Given the description of an element on the screen output the (x, y) to click on. 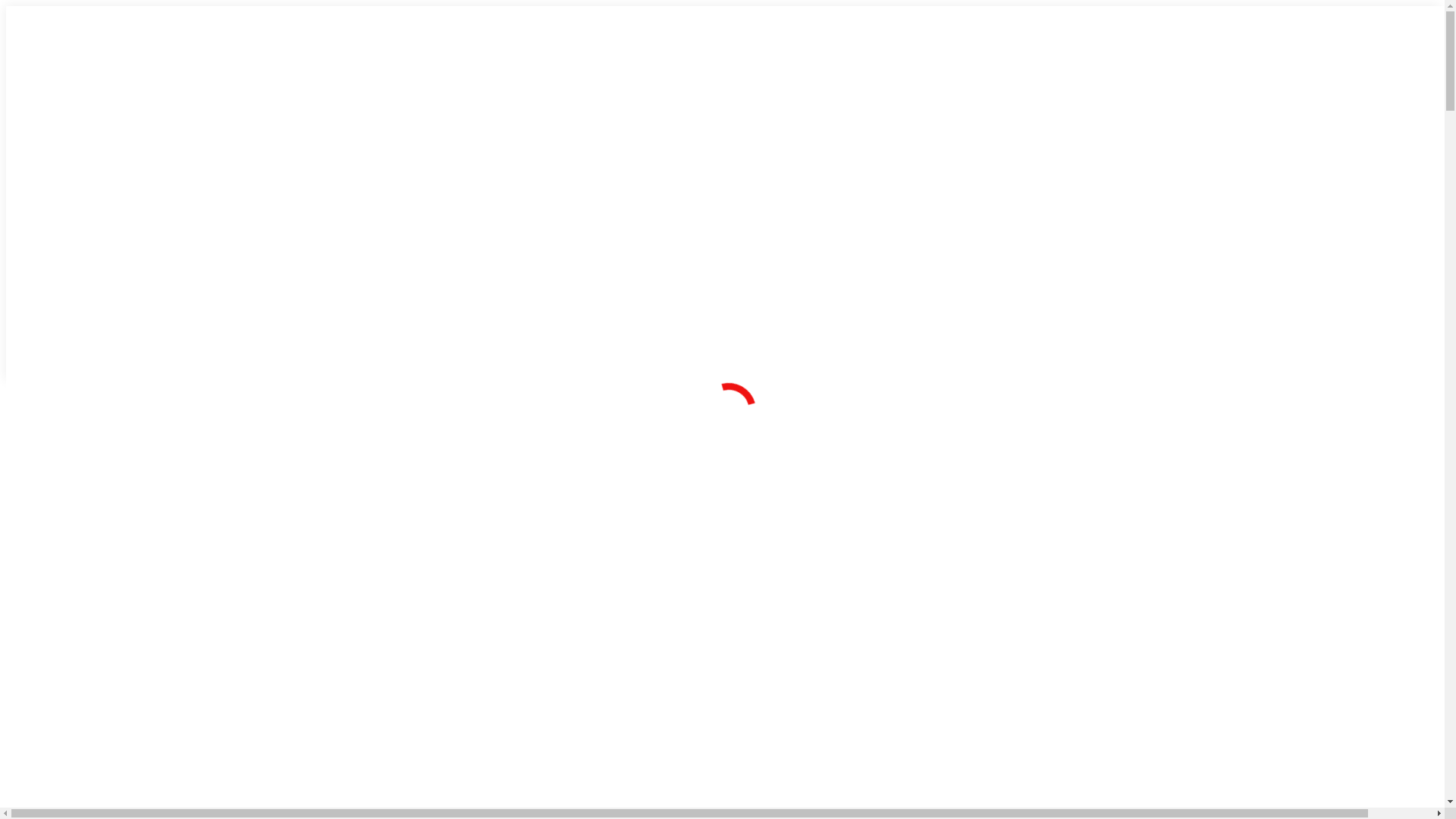
Shihan Stacey Karetsian Element type: text (410, 121)
Skip to content Element type: text (5, 5)
Kids Karate Element type: text (573, 100)
Member Login Element type: text (1095, 203)
CONTACT Element type: text (1005, 66)
Forrest Element type: text (764, 307)
Goshukan Karate Academy Element type: text (417, 100)
Pimpama Element type: text (770, 250)
0485 867 670 Element type: text (609, 22)
QLD Element type: text (752, 179)
ARTICLES Element type: text (948, 66)
Clear Island Waters Element type: text (795, 207)
NSW Element type: text (754, 100)
HOME Element type: text (316, 66)
The History of Goju-Ryu Element type: text (409, 163)
LOCATIONS Element type: text (823, 66)
ABOUT Element type: text (433, 66)
Adults Karate Element type: text (578, 121)
YouTube page opens in new window Element type: text (1169, 204)
Values & Guiding Principles Element type: text (418, 142)
Pearce Element type: text (763, 329)
Gold Coast Element type: text (774, 229)
Trial Offer Element type: text (1135, 22)
PROGRAMS Element type: text (628, 66)
Seven Hills Element type: text (774, 129)
Liverpool Element type: text (770, 150)
Facebook page opens in new window Element type: text (1133, 204)
0485 867 670 Element type: text (650, 685)
ACT Element type: text (753, 279)
Instagram page opens in new window Element type: text (1151, 204)
Enquire now Element type: text (422, 685)
